Given the description of an element on the screen output the (x, y) to click on. 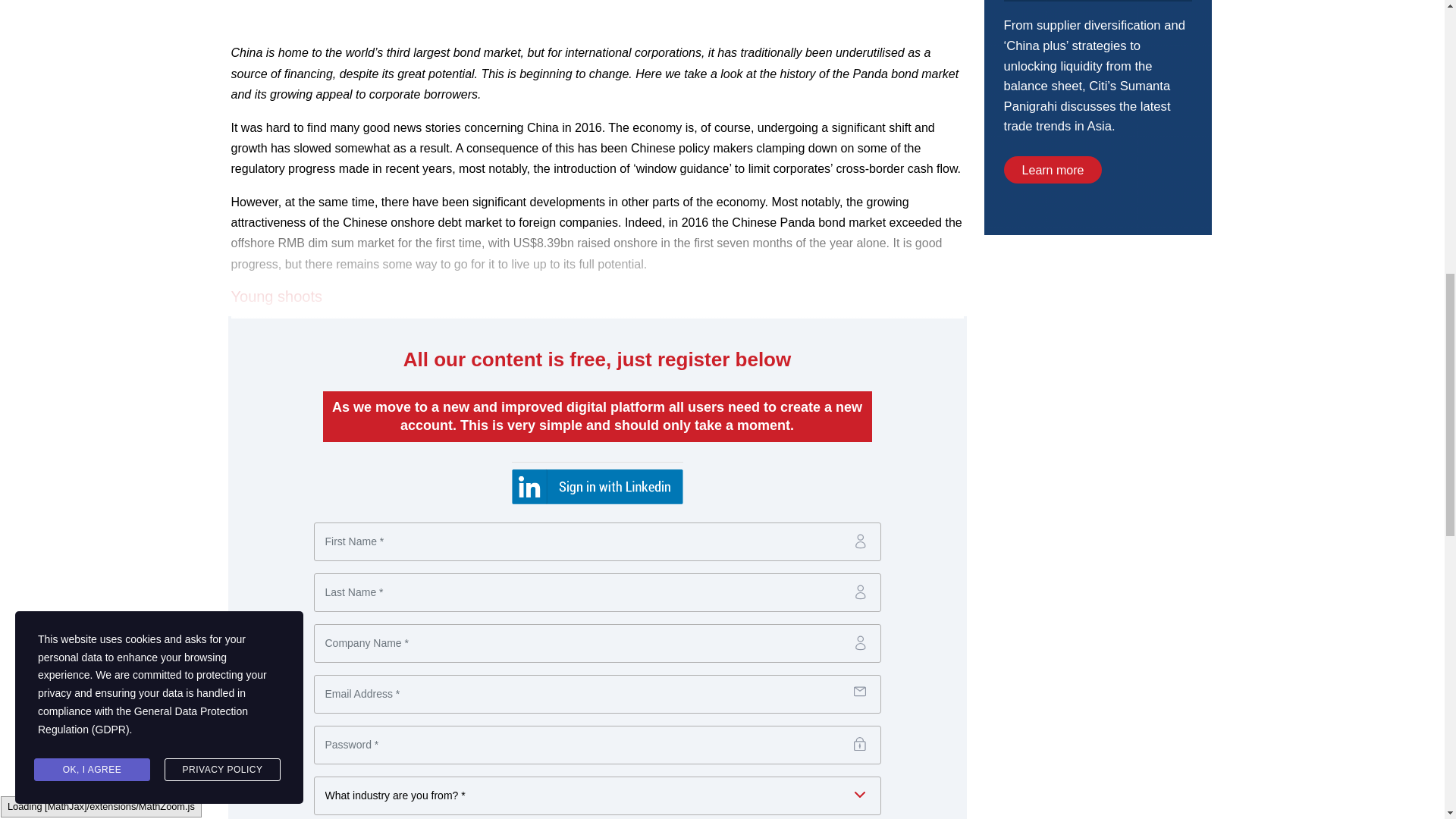
3rd party ad content (1097, 362)
3rd party ad content (1097, 117)
